Given the description of an element on the screen output the (x, y) to click on. 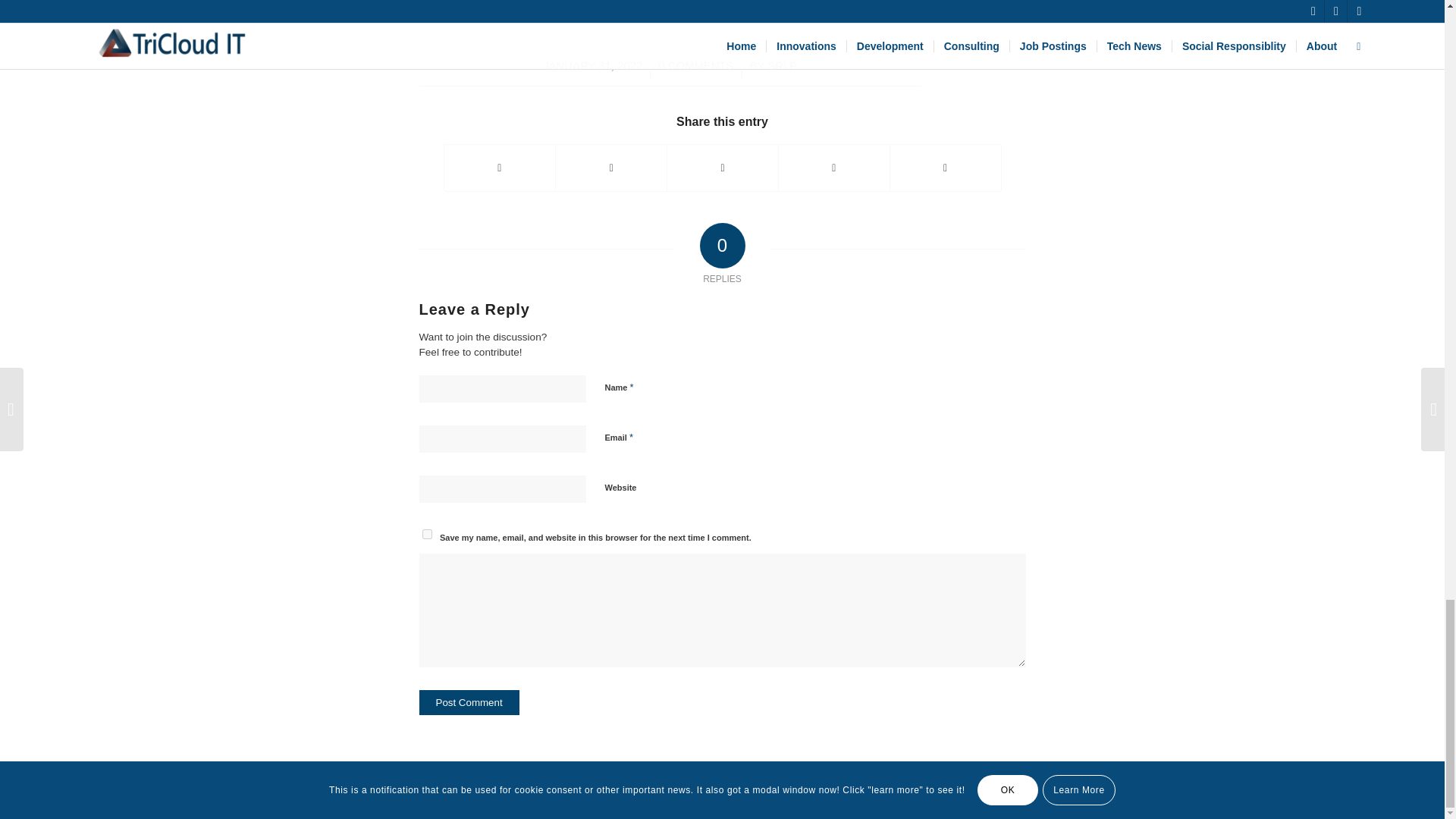
Post Comment (468, 702)
Post Comment (468, 702)
SRI P (781, 65)
0 COMMENTS (695, 65)
Posts by Sri P (781, 65)
yes (426, 533)
